Given the description of an element on the screen output the (x, y) to click on. 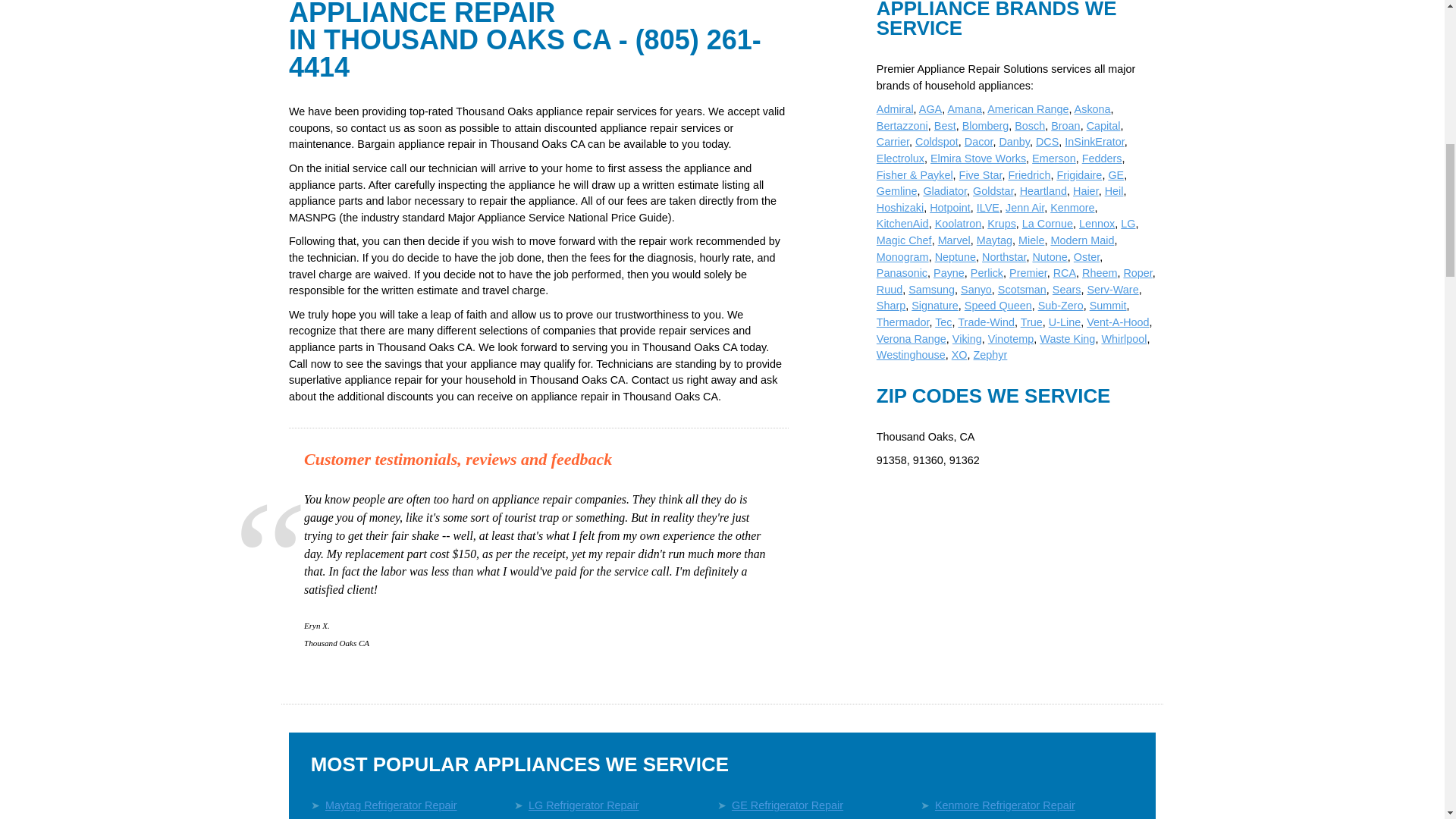
Blomberg (985, 125)
Elmira Stove Works (978, 158)
Danby (1013, 141)
Electrolux (900, 158)
Coldspot (936, 141)
AGA (930, 109)
Admiral (895, 109)
Carrier (892, 141)
Best (945, 125)
Dacor (977, 141)
